Given the description of an element on the screen output the (x, y) to click on. 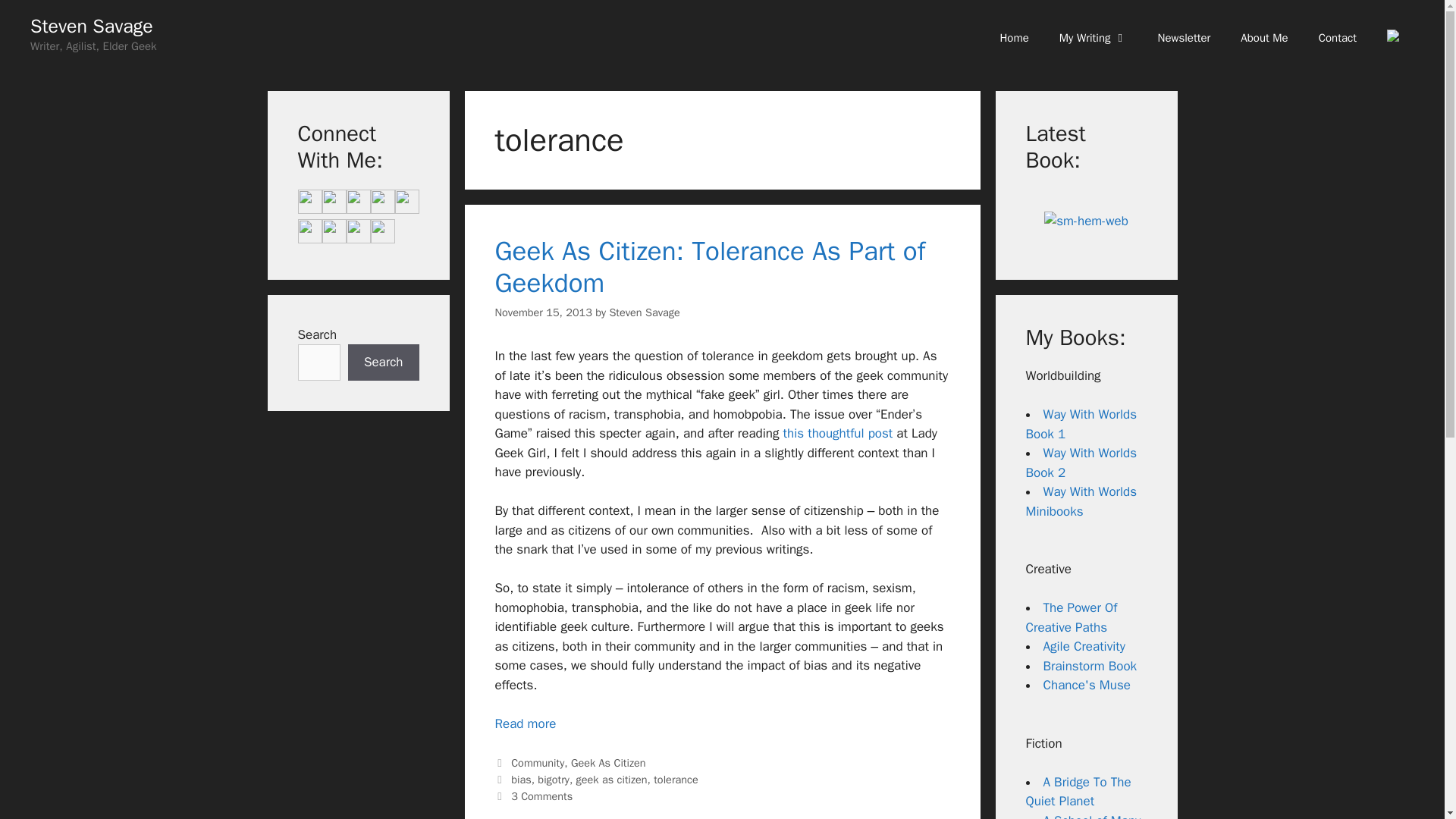
Search (383, 361)
Way With Worlds Minibooks (1081, 501)
Contact (1337, 37)
My Writing (1092, 37)
Geek As Citizen: Tolerance As Part of Geekdom (709, 266)
Geek As Citizen: Tolerance As Part of Geekdom (525, 723)
About Me (1264, 37)
The Power Of Creative Paths (1070, 617)
Read more (525, 723)
Brainstorm Book (1090, 666)
